Given the description of an element on the screen output the (x, y) to click on. 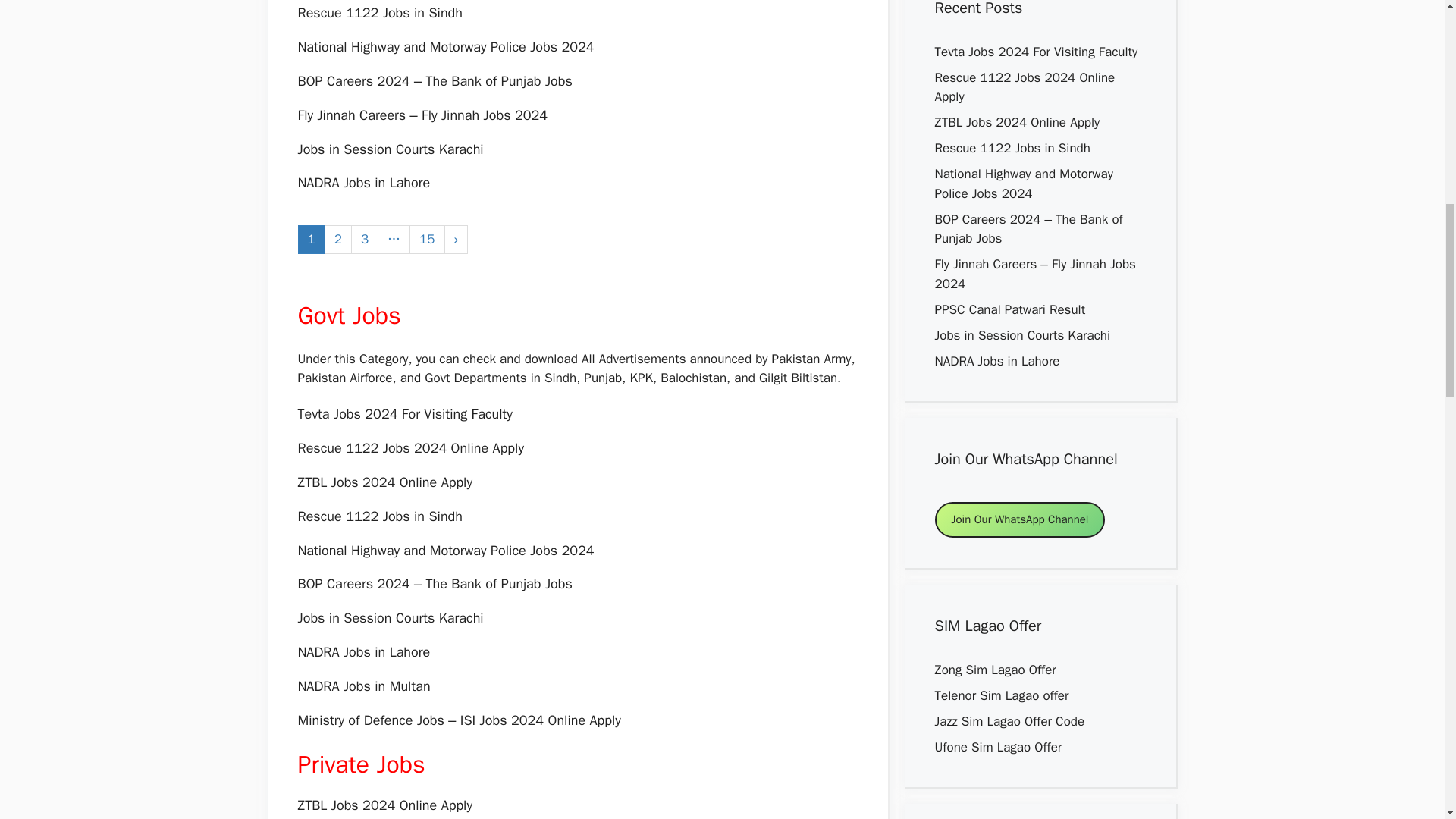
15 (426, 239)
Rescue 1122 Jobs in Sindh (380, 12)
Tevta Jobs 2024 For Visiting Faculty (404, 413)
Scroll back to top (1406, 720)
Jobs in Session Courts Karachi (390, 149)
NADRA Jobs in Multan (363, 686)
Rescue 1122 Jobs 2024 Online Apply (409, 447)
National Highway and Motorway Police Jobs 2024 (445, 46)
NADRA Jobs in Lahore (363, 182)
NADRA Jobs in Lahore (363, 651)
2 (338, 239)
Rescue 1122 Jobs in Sindh (380, 515)
National Highway and Motorway Police Jobs 2024 (445, 550)
ZTBL Jobs 2024 Online Apply (384, 482)
3 (364, 239)
